Given the description of an element on the screen output the (x, y) to click on. 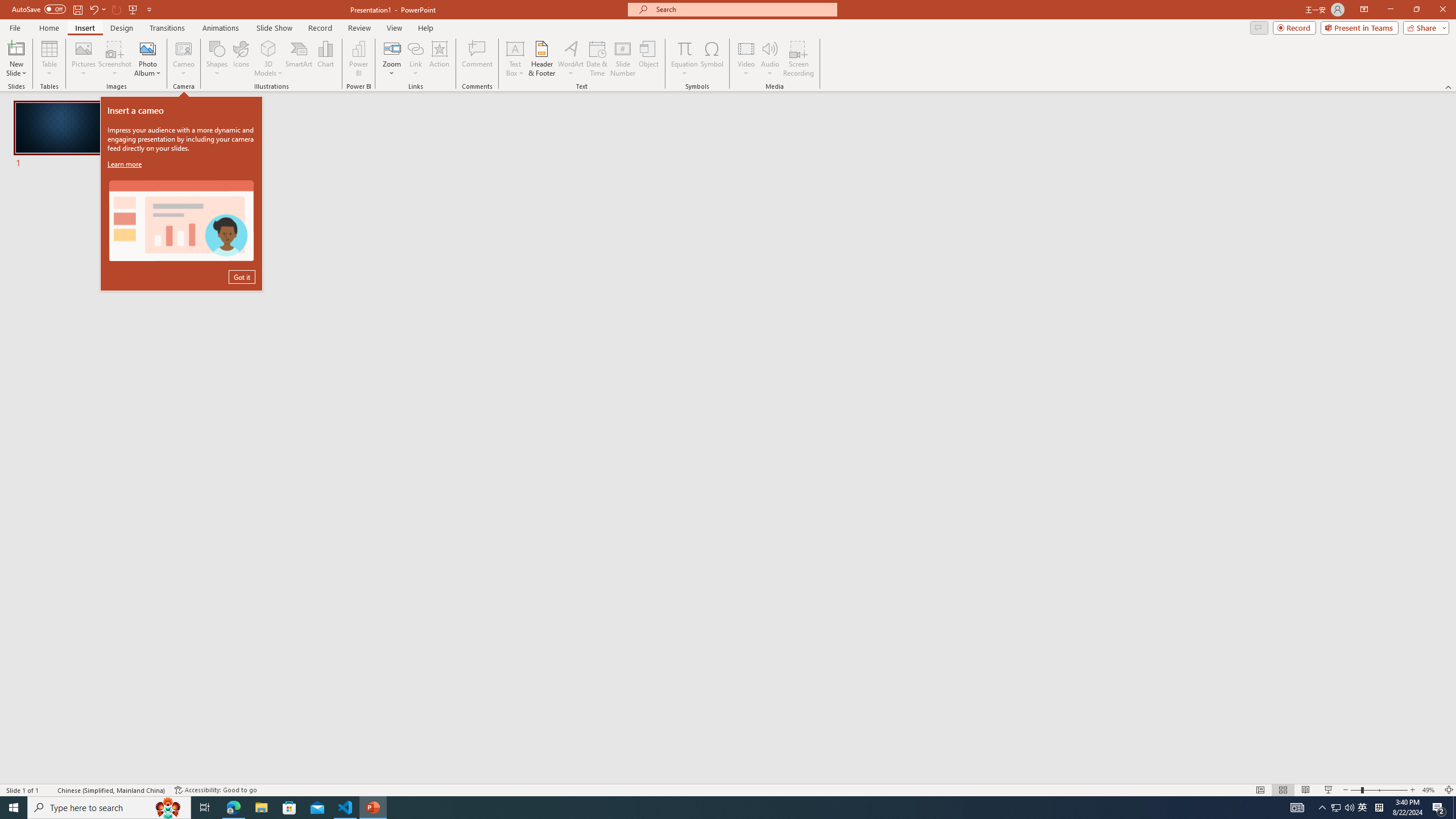
Icons (240, 58)
Got it (241, 277)
3D Models (268, 48)
Date & Time... (596, 58)
3D Models (268, 58)
